Given the description of an element on the screen output the (x, y) to click on. 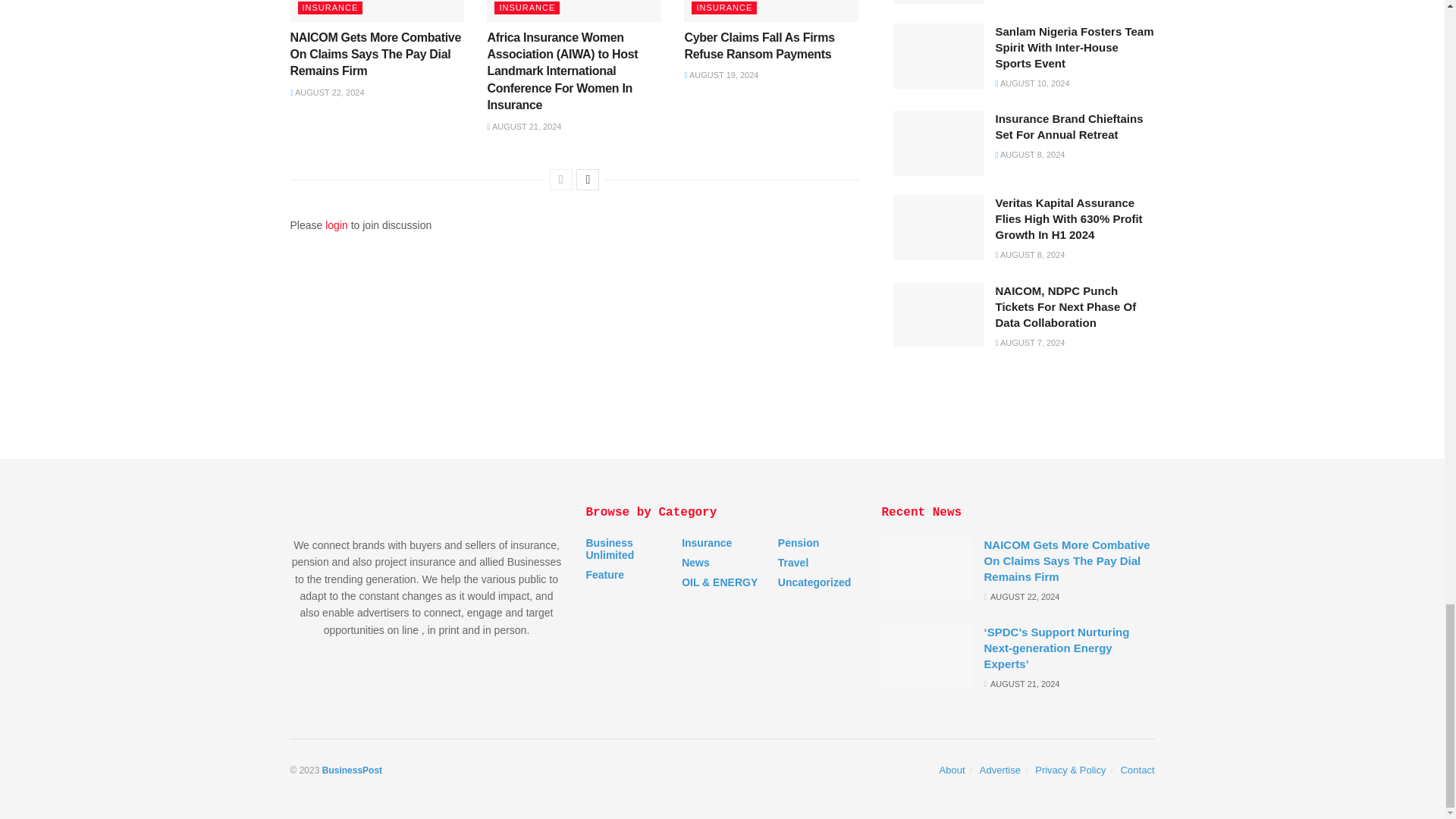
Next (587, 179)
Previous (561, 179)
Business Post (351, 769)
